Given the description of an element on the screen output the (x, y) to click on. 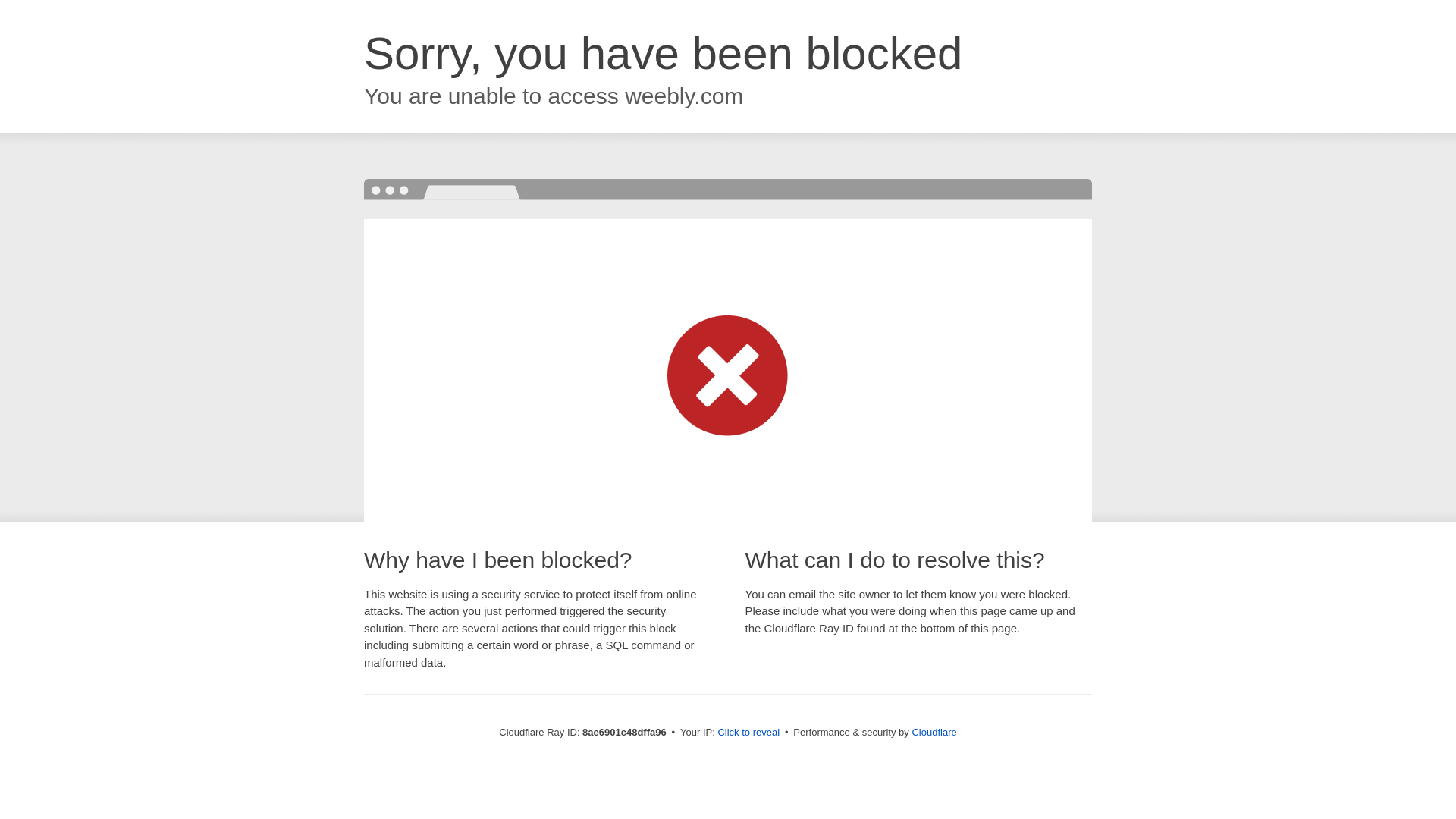
Click to reveal (747, 732)
Cloudflare (933, 731)
